Given the description of an element on the screen output the (x, y) to click on. 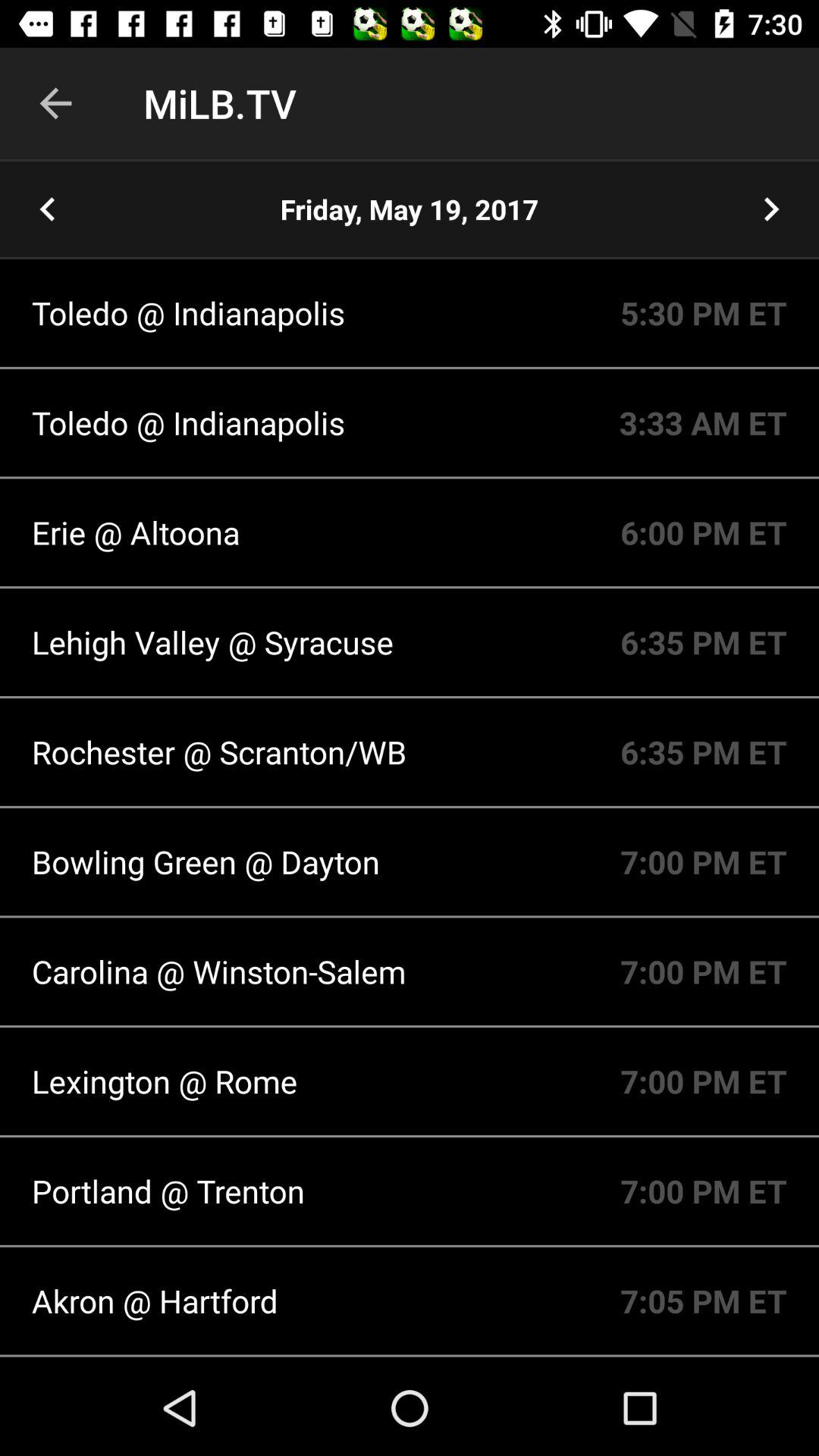
scroll until the friday may 19 item (409, 209)
